Given the description of an element on the screen output the (x, y) to click on. 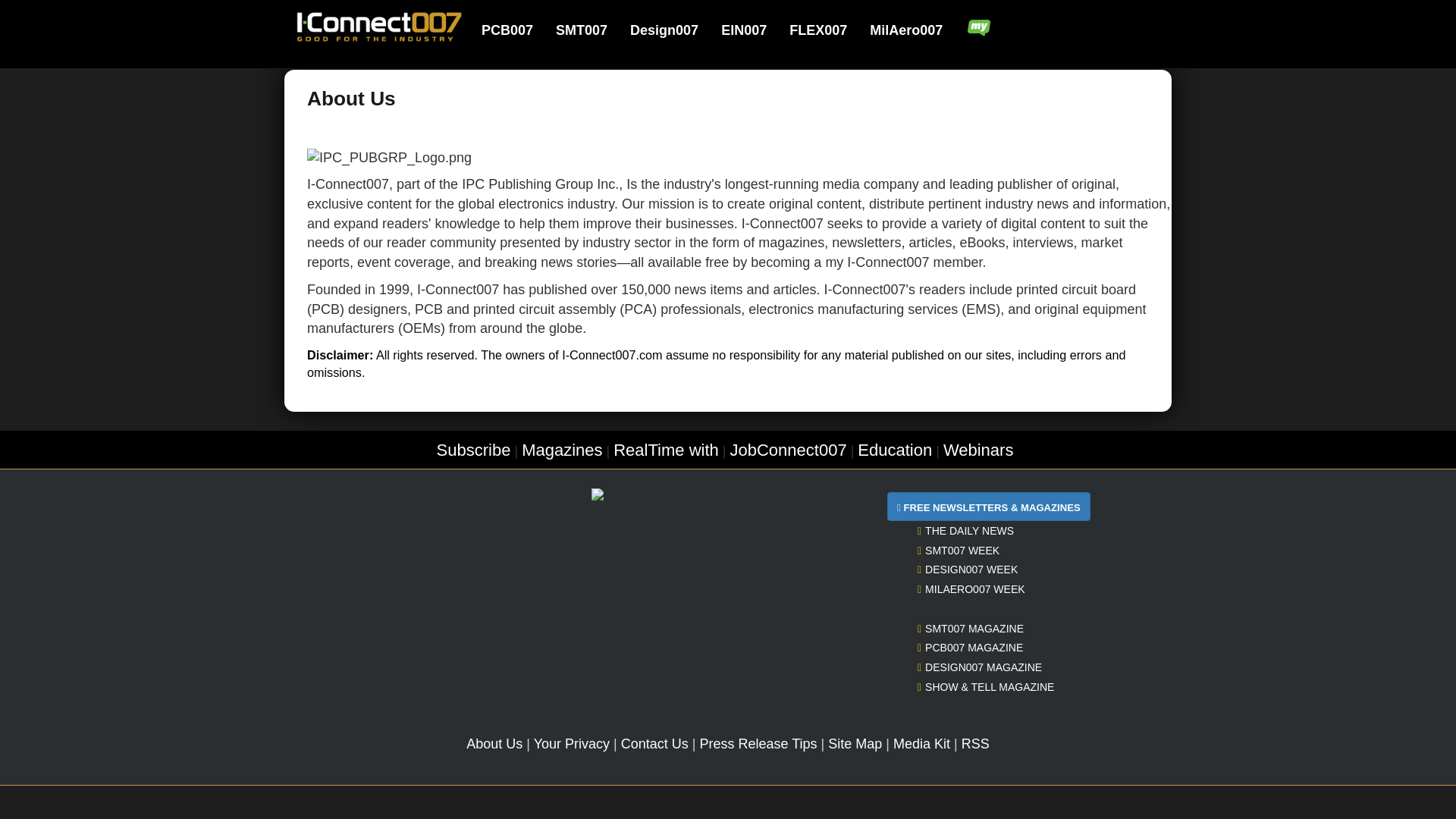
Press Release Tips (757, 743)
SMT007 MAGAZINE (970, 628)
Subscribe (473, 449)
Media Kit (921, 743)
EIN007 (753, 30)
Contact Us (654, 743)
Site Map (855, 743)
Your Privacy (572, 743)
SMT007 WEEK (957, 550)
Design007 (673, 30)
